Given the description of an element on the screen output the (x, y) to click on. 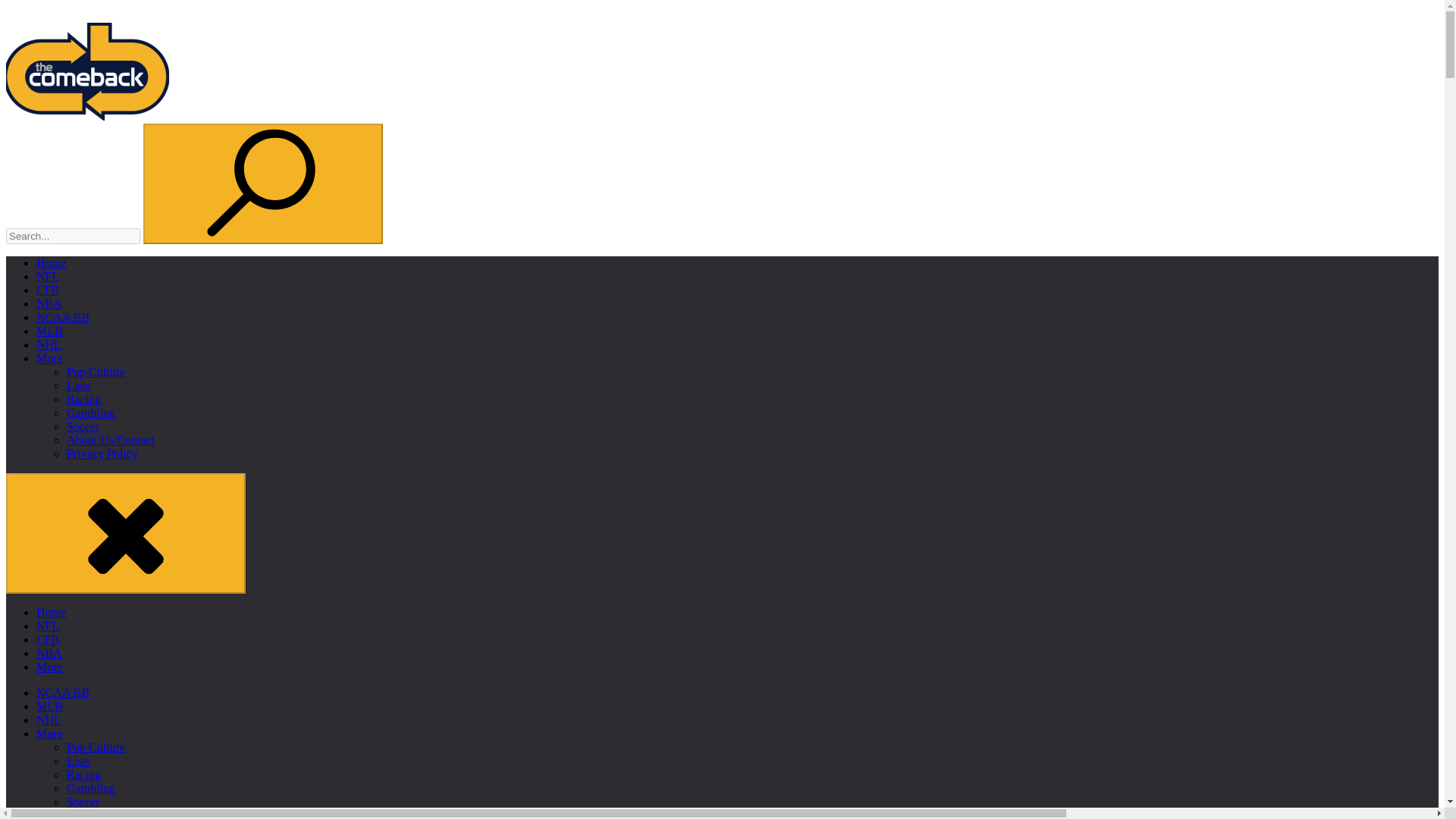
NCAA BB (62, 317)
NBA (49, 303)
Gambling (90, 788)
Home (50, 262)
Home (50, 612)
Lists (78, 760)
Privacy Policy (102, 453)
More (49, 666)
NHL (48, 719)
Pop Culture (95, 371)
Soccer (83, 426)
Pop Culture (95, 747)
NCAA BB (62, 692)
CFB (47, 639)
